Given the description of an element on the screen output the (x, y) to click on. 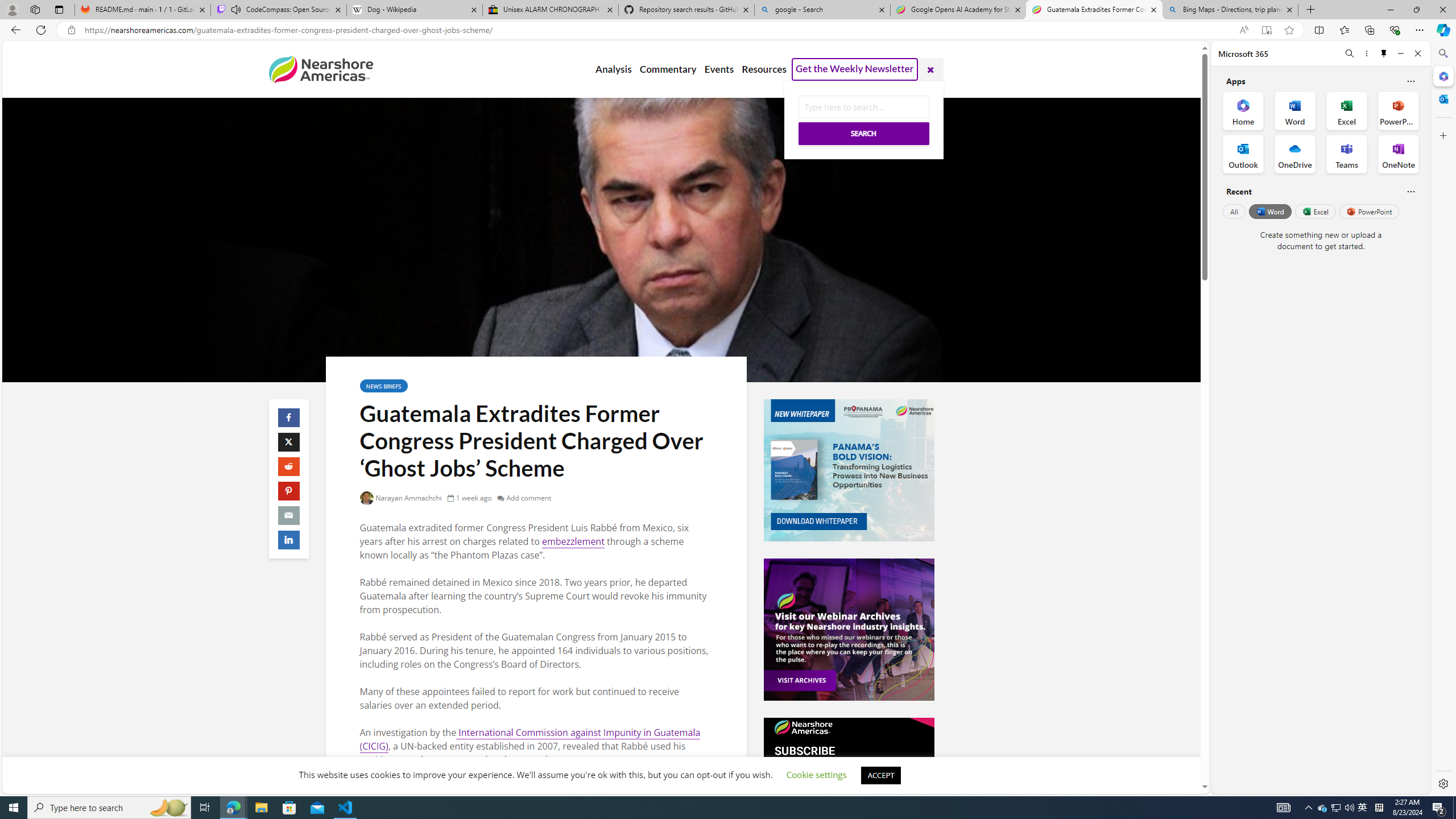
PowerPoint (1369, 210)
Type here to search... (862, 106)
Events (718, 69)
Get the Weekly Newsletter (854, 69)
SEARCH (863, 119)
Events-Banner-Ad.jpg (848, 629)
OneDrive Office App (1295, 154)
ACCEPT (880, 775)
PowerPoint Office App (1398, 110)
